Given the description of an element on the screen output the (x, y) to click on. 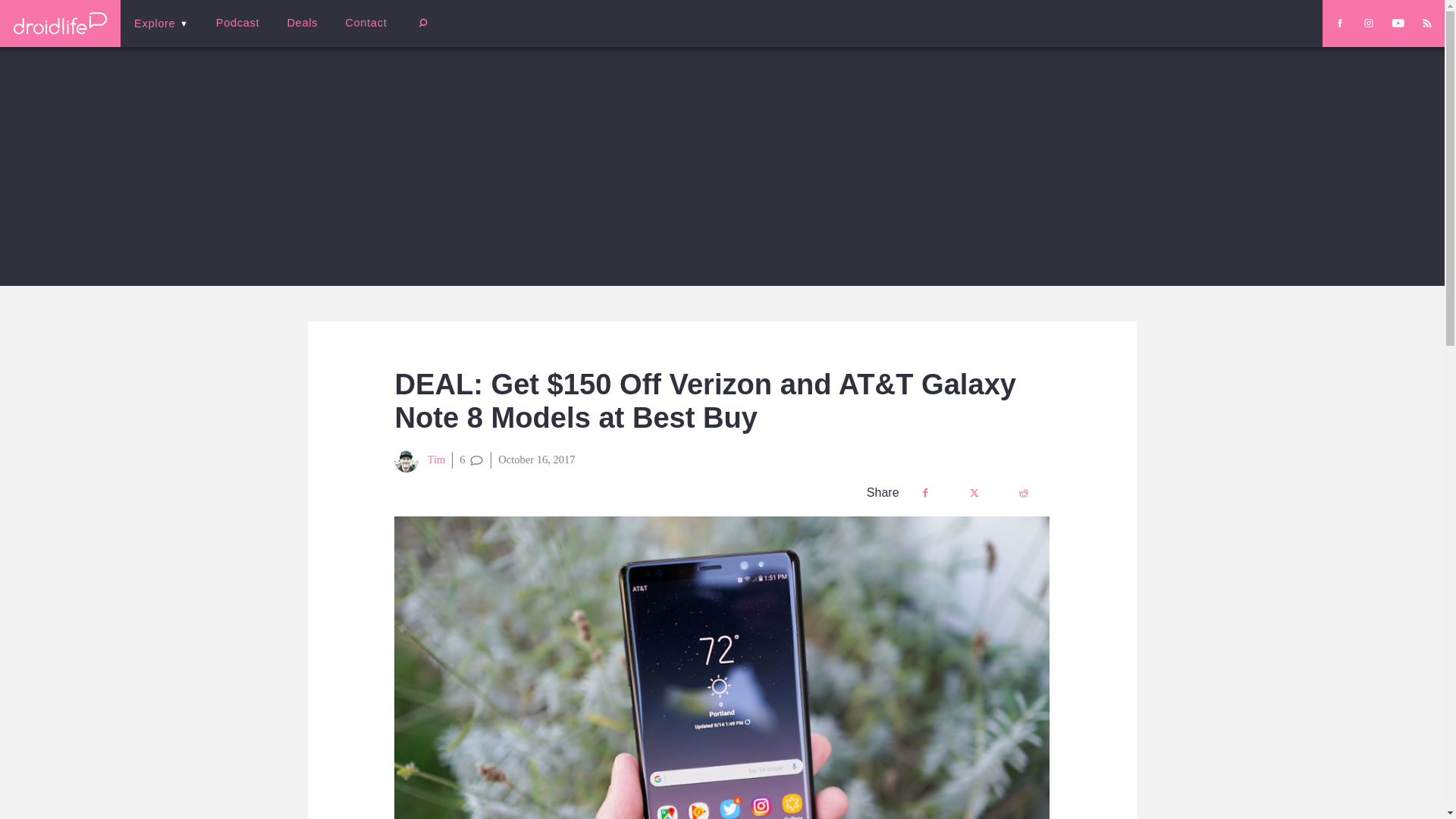
Tim (419, 459)
Contact (365, 23)
Deals (302, 23)
Beginners' Guide (360, 33)
Droid Life on YouTube (1398, 23)
Droid Life RSS (1426, 23)
Droid Life on Facebook (1339, 23)
Podcast (237, 23)
Explore (161, 23)
Droid Life on Instagram (1368, 23)
